Given the description of an element on the screen output the (x, y) to click on. 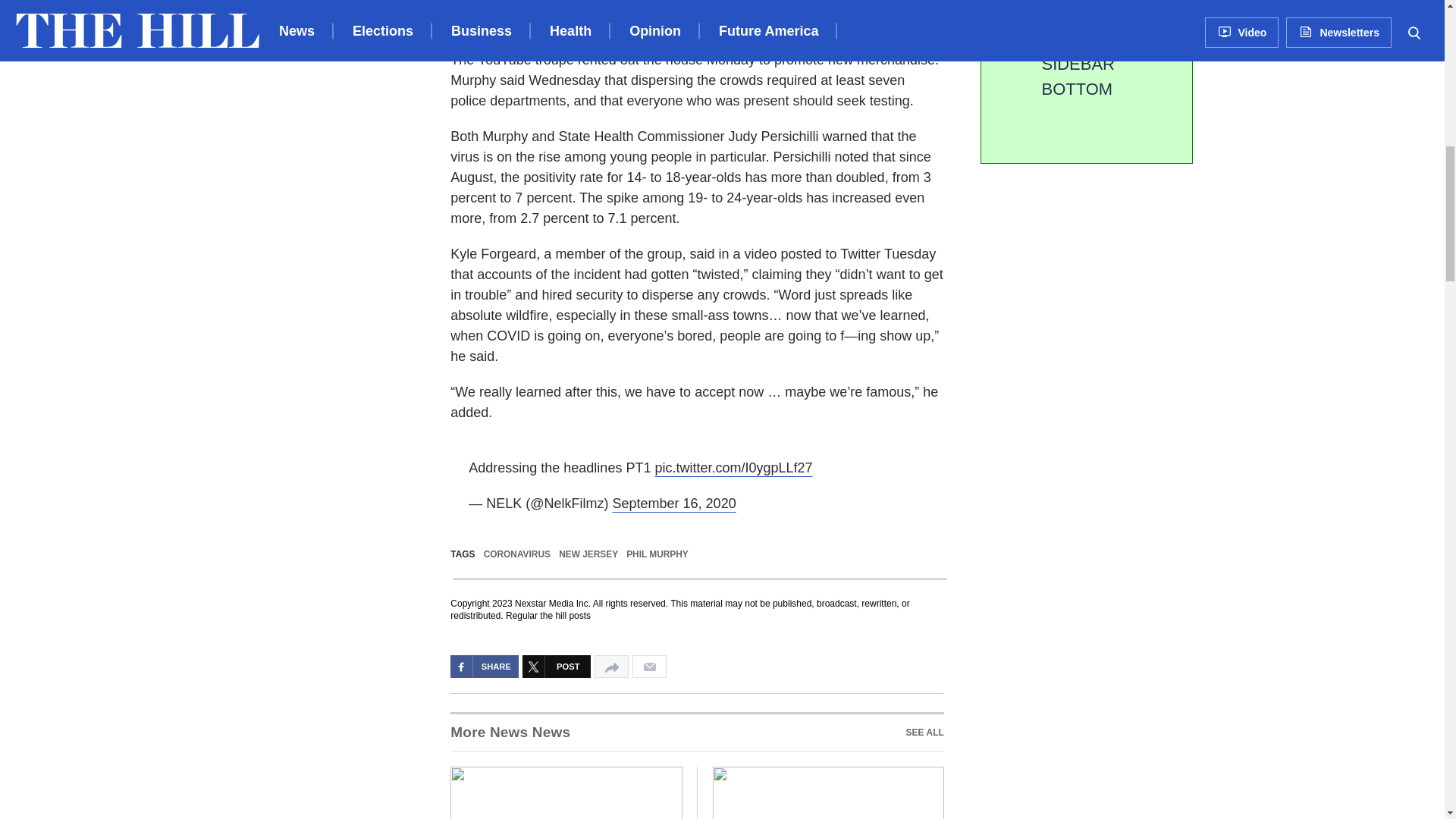
More News News (696, 731)
SEE ALL (509, 732)
SEE ALL (924, 732)
